Given the description of an element on the screen output the (x, y) to click on. 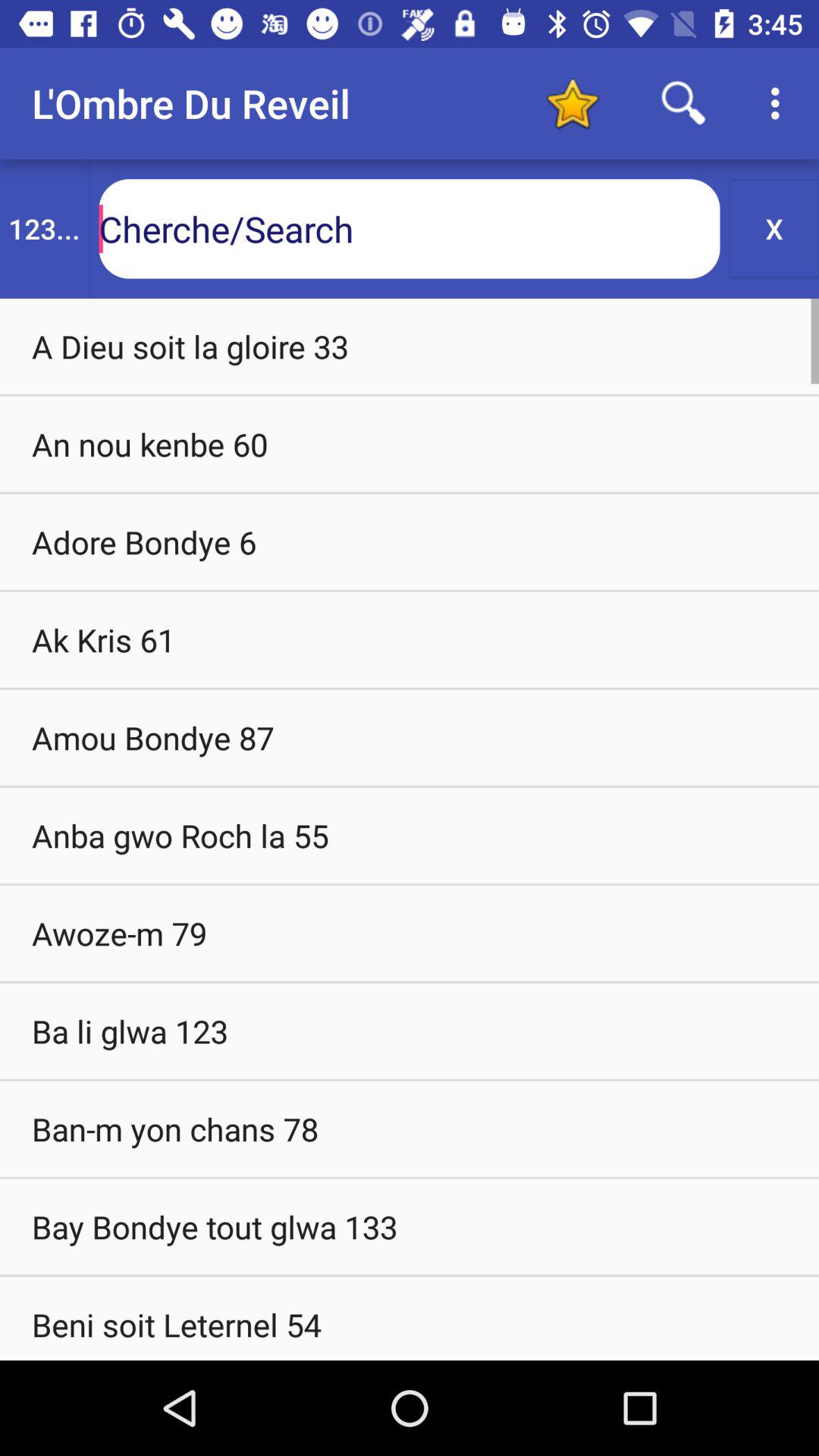
search (683, 103)
